Given the description of an element on the screen output the (x, y) to click on. 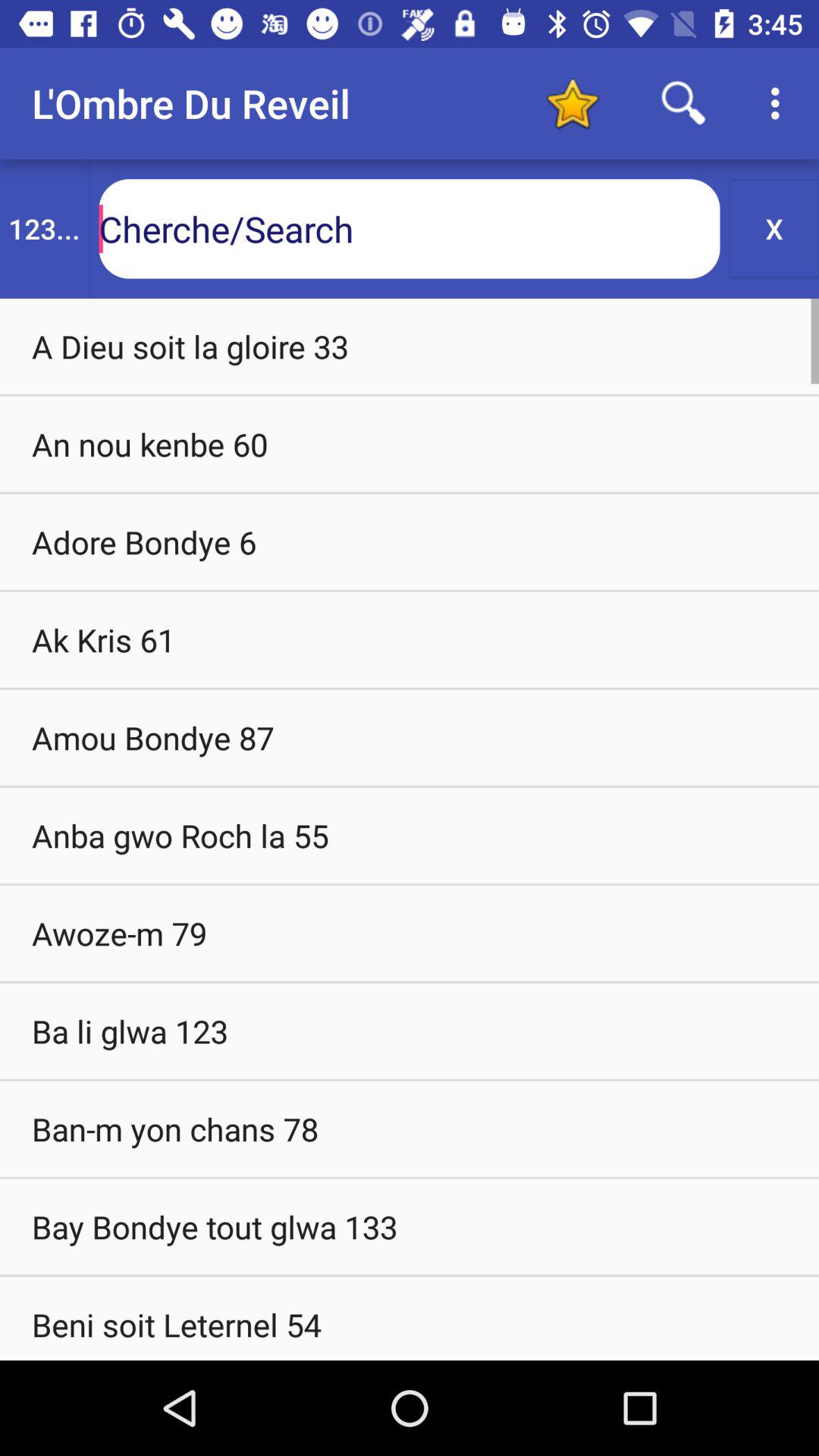
search (683, 103)
